Given the description of an element on the screen output the (x, y) to click on. 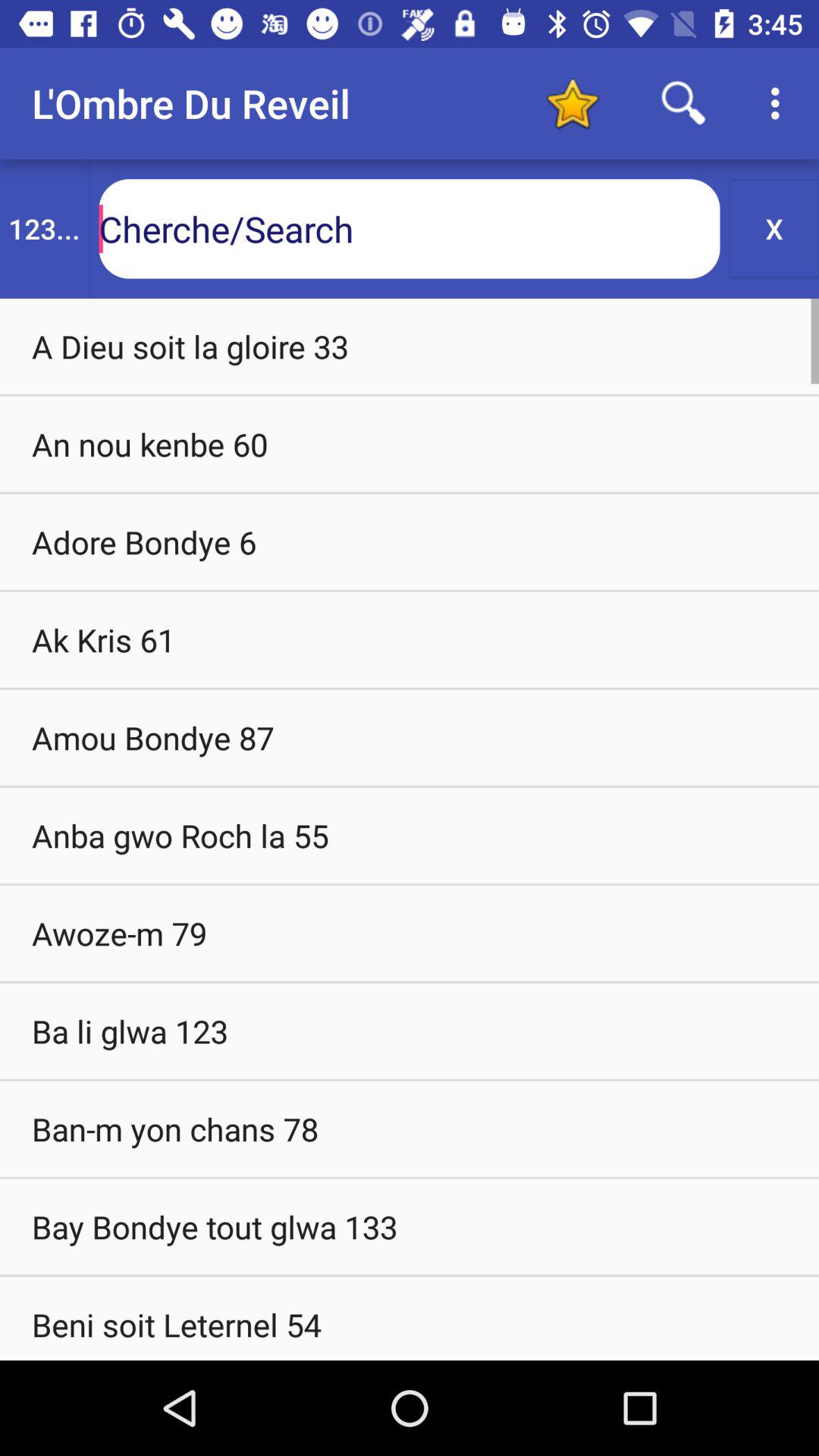
search (683, 103)
